Given the description of an element on the screen output the (x, y) to click on. 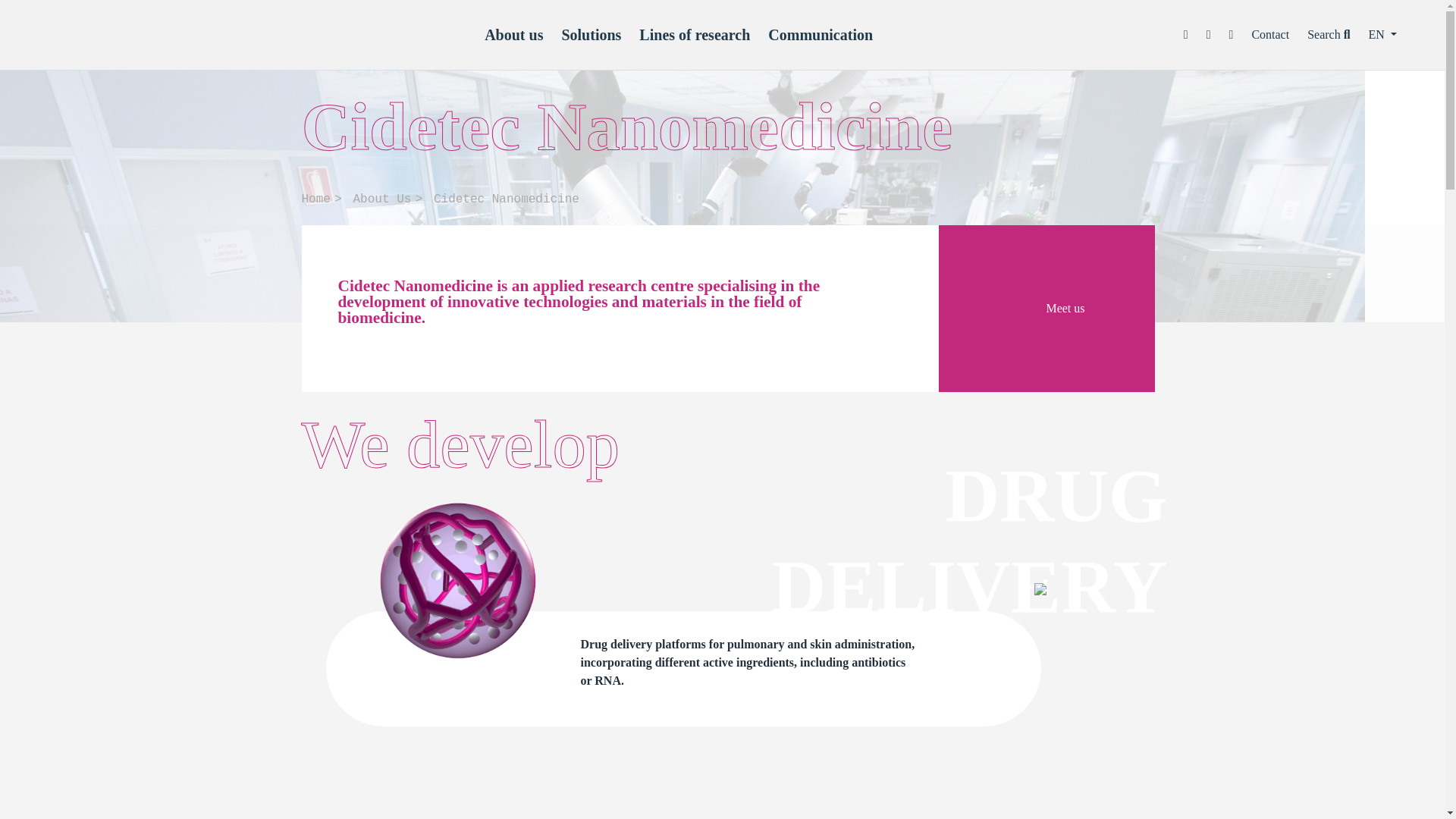
EN (1382, 33)
Communication (820, 34)
About us (513, 34)
Search (1328, 33)
Solutions (590, 34)
Lines of research (694, 34)
Contact (1269, 33)
